Given the description of an element on the screen output the (x, y) to click on. 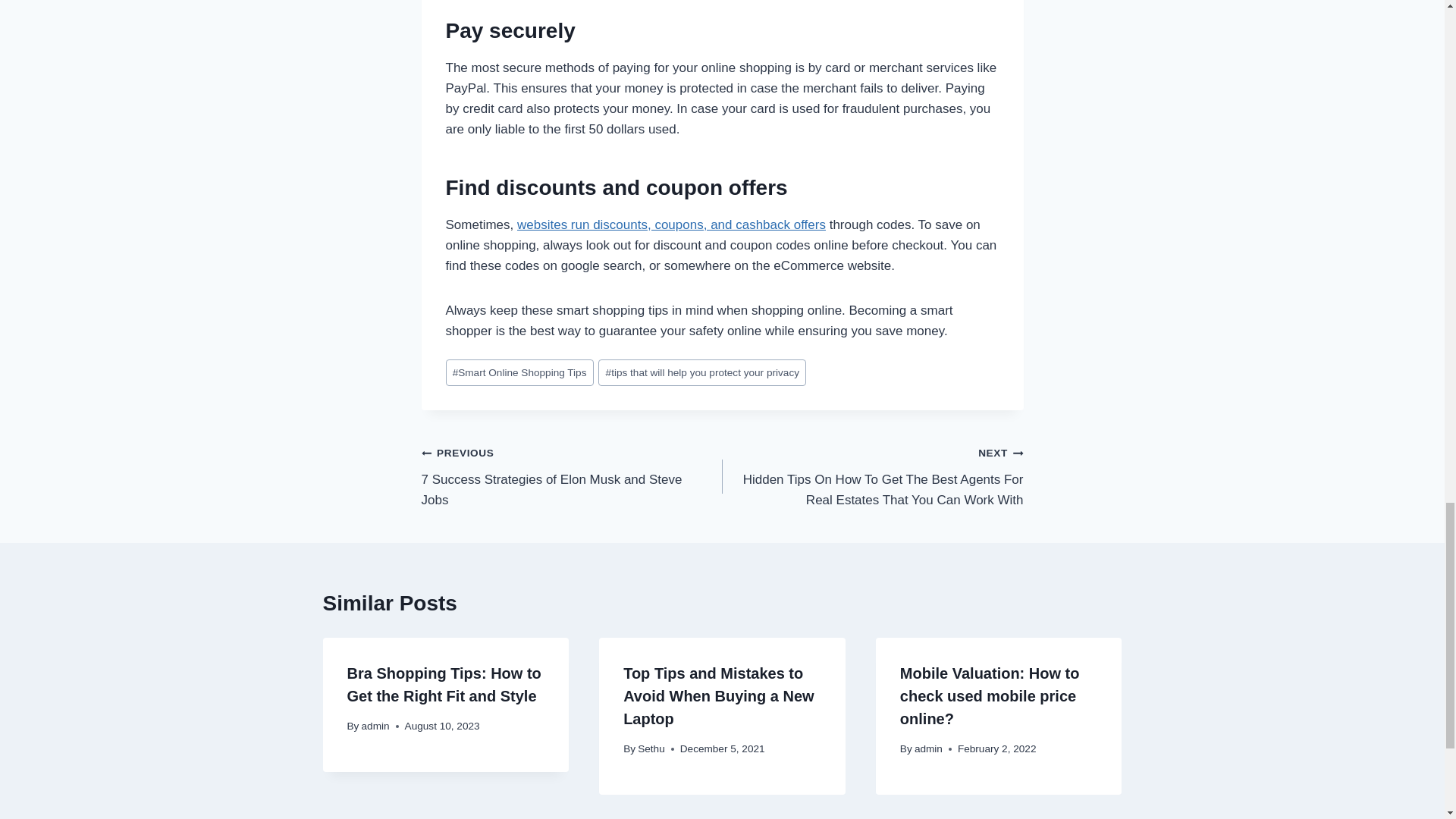
websites run discounts, coupons, and cashback offers (670, 224)
Bra Shopping Tips: How to Get the Right Fit and Style (572, 476)
tips that will help you protect your privacy (444, 684)
Smart Online Shopping Tips (702, 372)
